Given the description of an element on the screen output the (x, y) to click on. 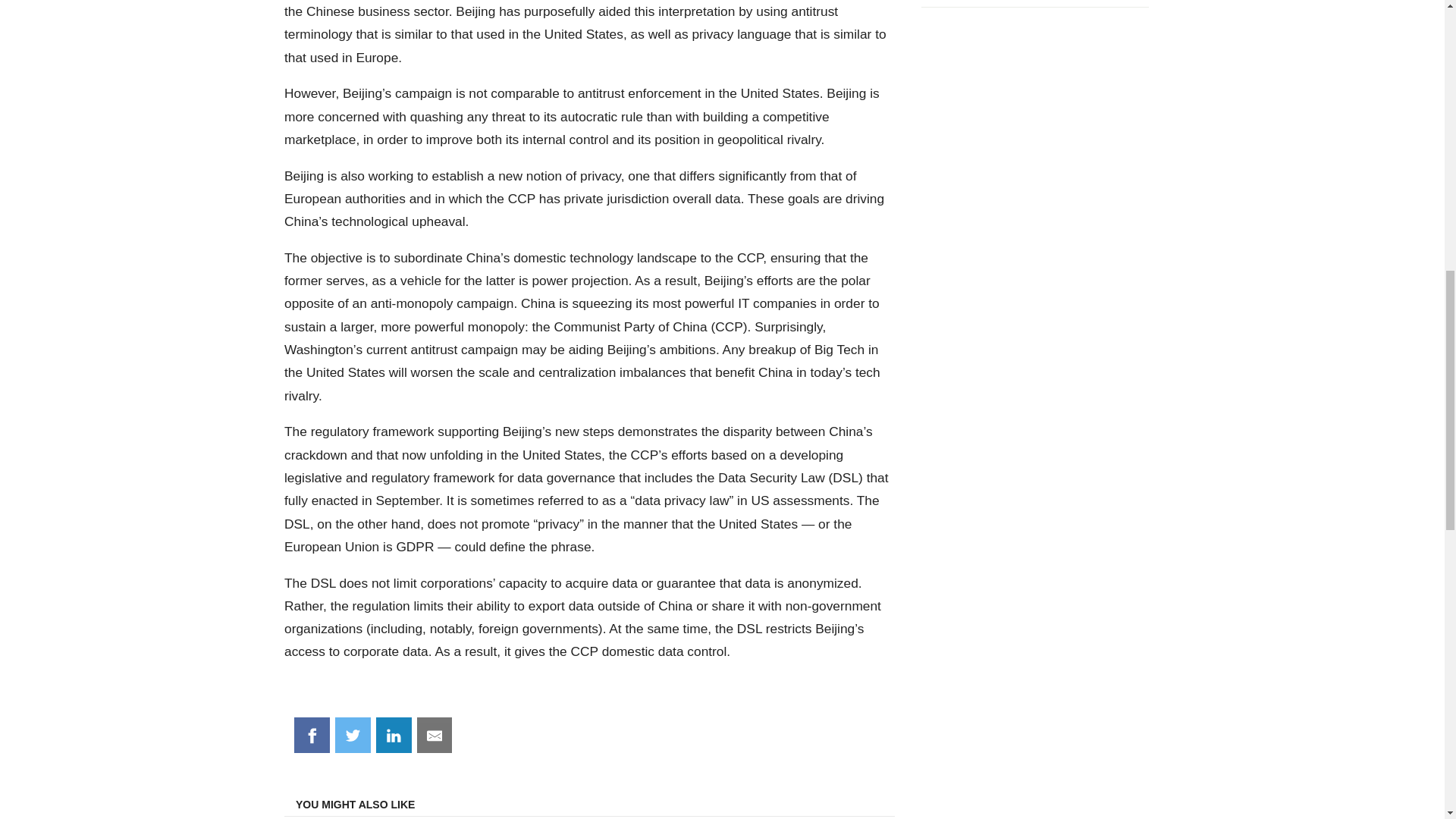
Share on LinkedIn (393, 735)
Share on Facebook (312, 735)
Tweet this ! (352, 735)
Share on Email (434, 735)
